Given the description of an element on the screen output the (x, y) to click on. 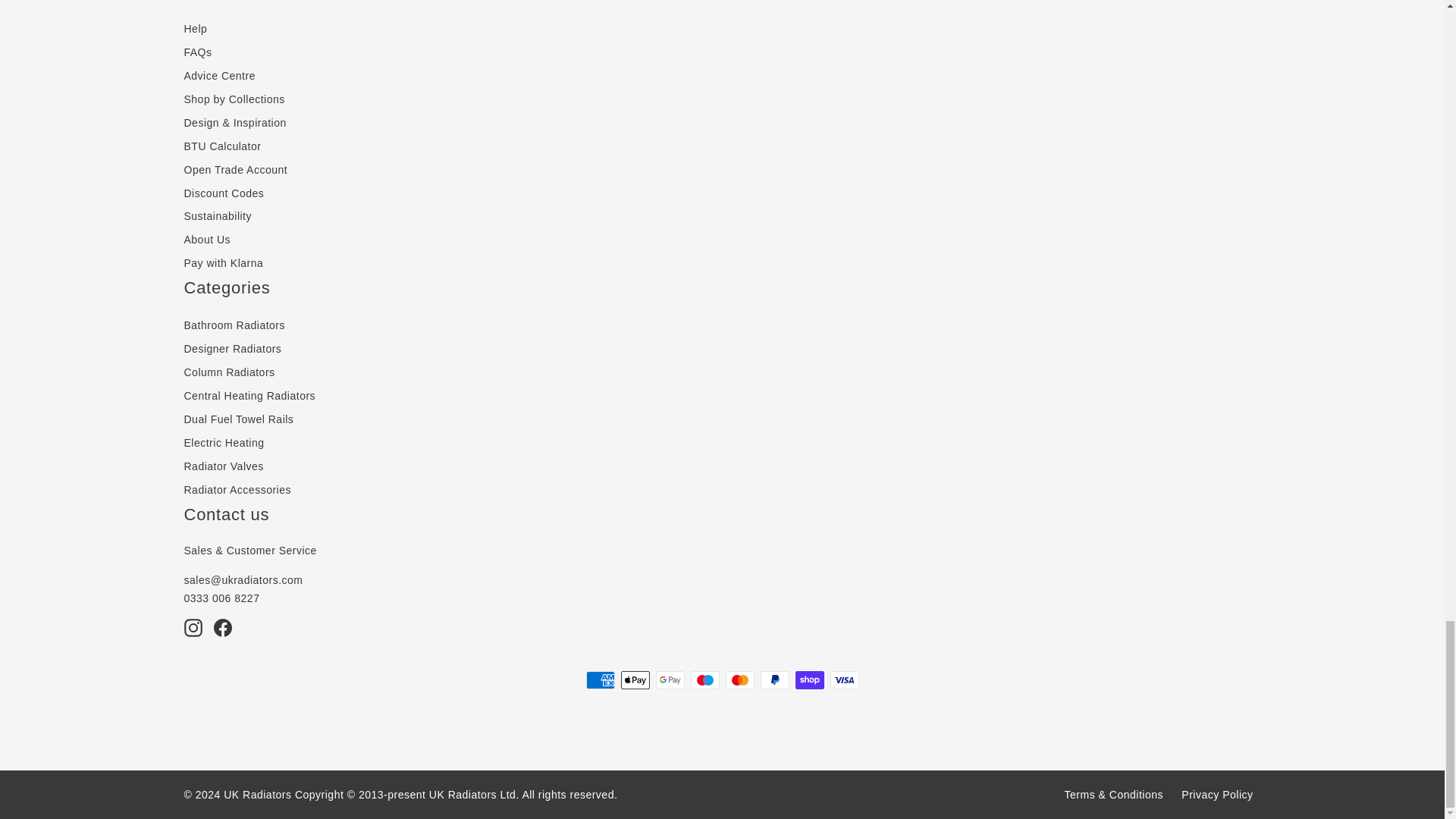
PayPal (774, 679)
Maestro (704, 679)
Apple Pay (634, 679)
instagram (192, 628)
Mastercard (739, 679)
Visa (844, 679)
UK Radiators on Instagram (192, 628)
tel:03330068227 (221, 598)
Google Pay (669, 679)
American Express (599, 679)
